Given the description of an element on the screen output the (x, y) to click on. 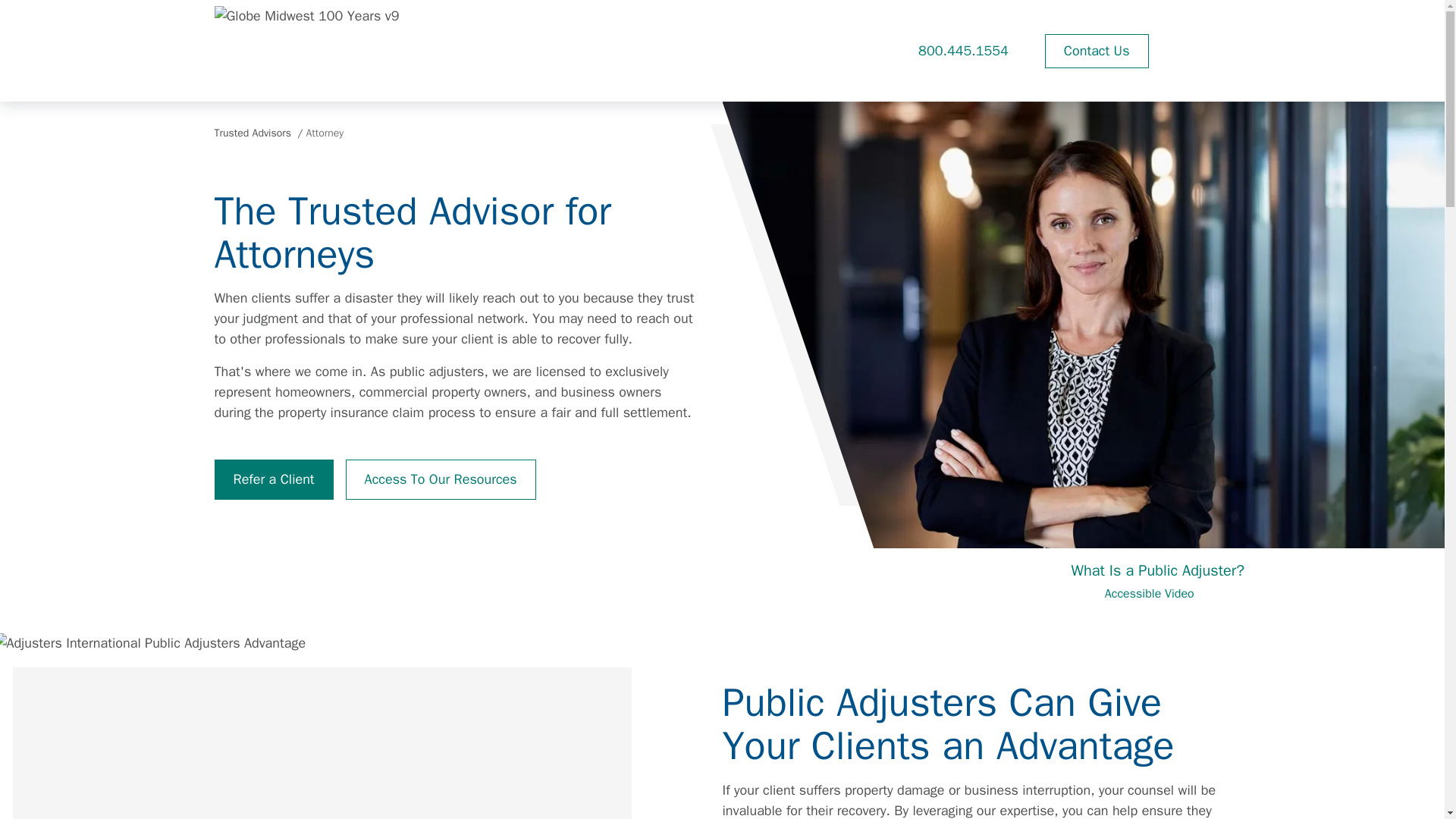
Contact Us (1096, 50)
Trusted Advisors (252, 132)
Accessible Video (1158, 593)
800.445.1554 (963, 50)
Refer a Client (273, 479)
Access To Our Resources (440, 479)
What Is a Public Adjuster? (1156, 570)
Open navigation menu (1207, 49)
